Given the description of an element on the screen output the (x, y) to click on. 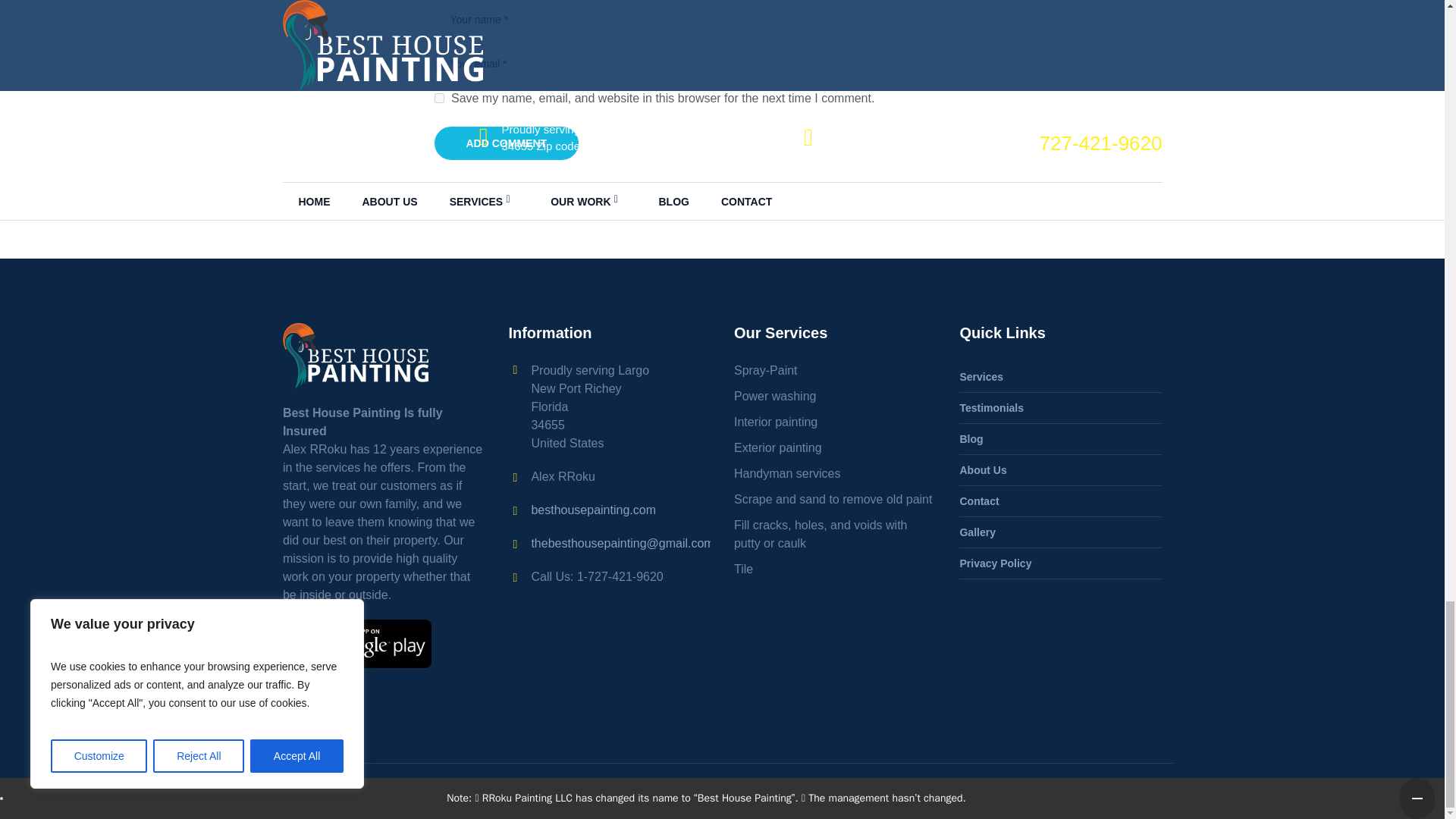
Facebook (1123, 791)
Instagram (1148, 791)
yes (438, 98)
Add Comment (505, 142)
